Given the description of an element on the screen output the (x, y) to click on. 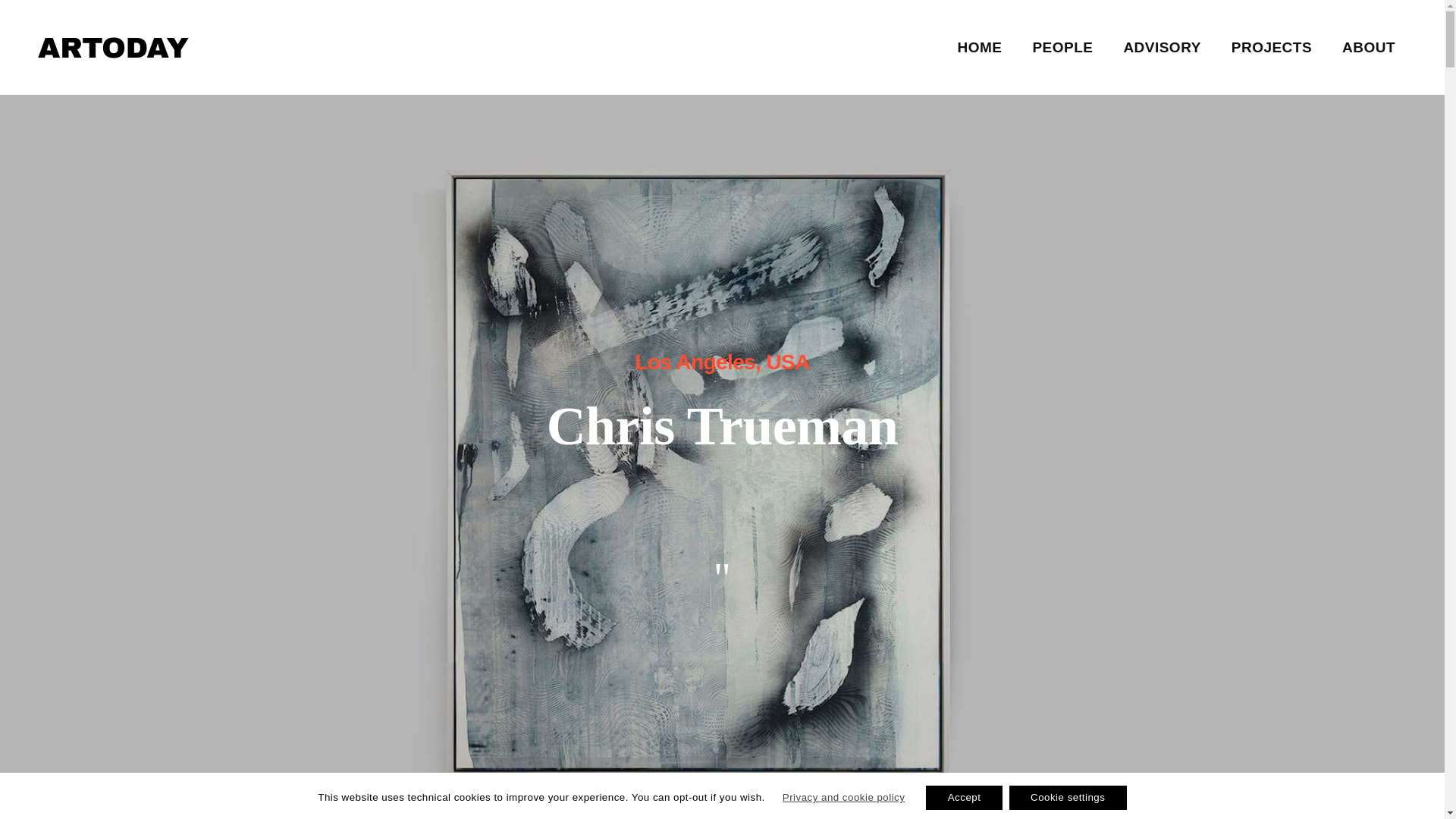
PROJECTS (1270, 47)
PEOPLE (1062, 47)
ADVISORY (1161, 47)
